Given the description of an element on the screen output the (x, y) to click on. 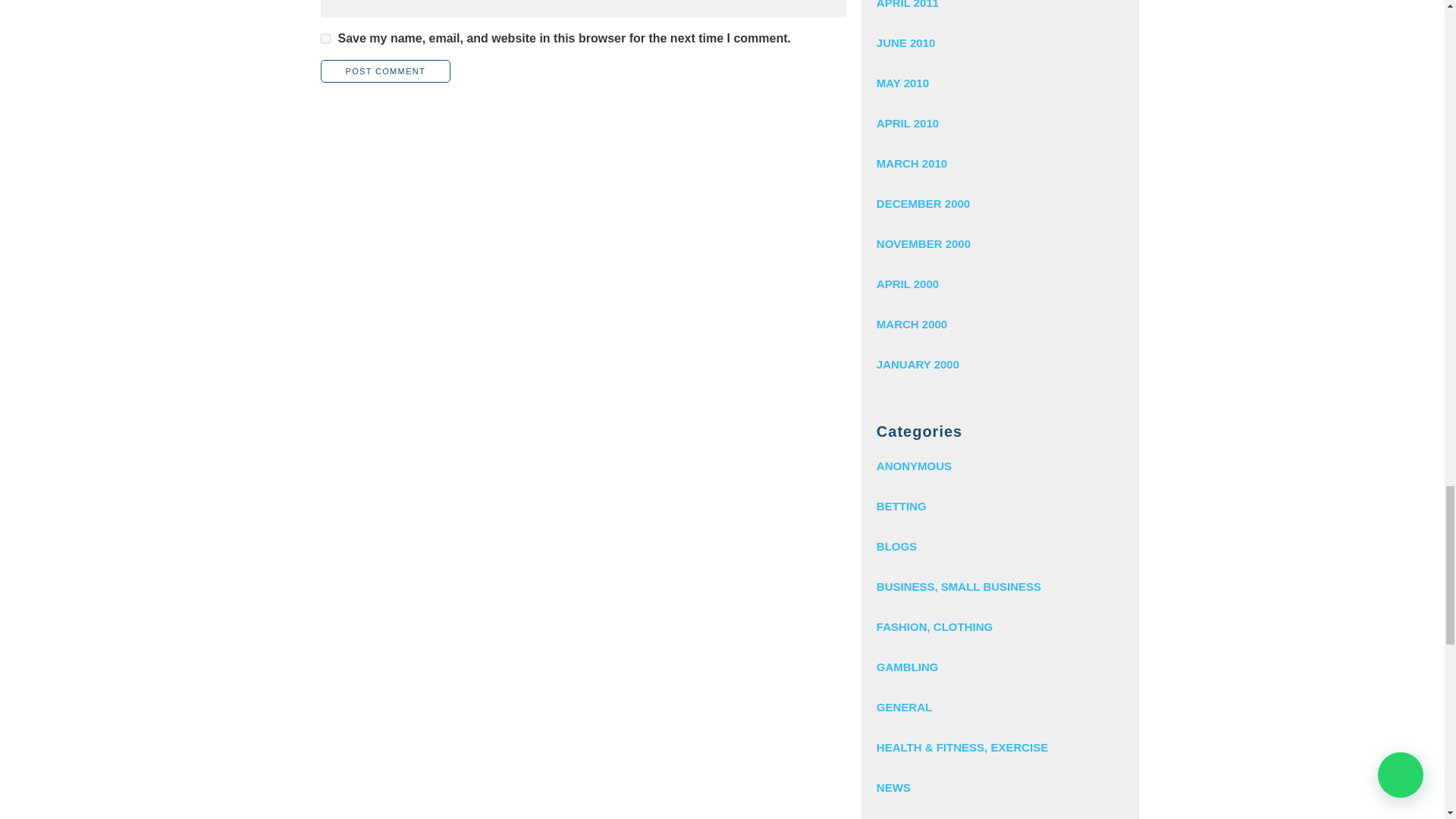
Post Comment (384, 70)
Post Comment (384, 70)
